Given the description of an element on the screen output the (x, y) to click on. 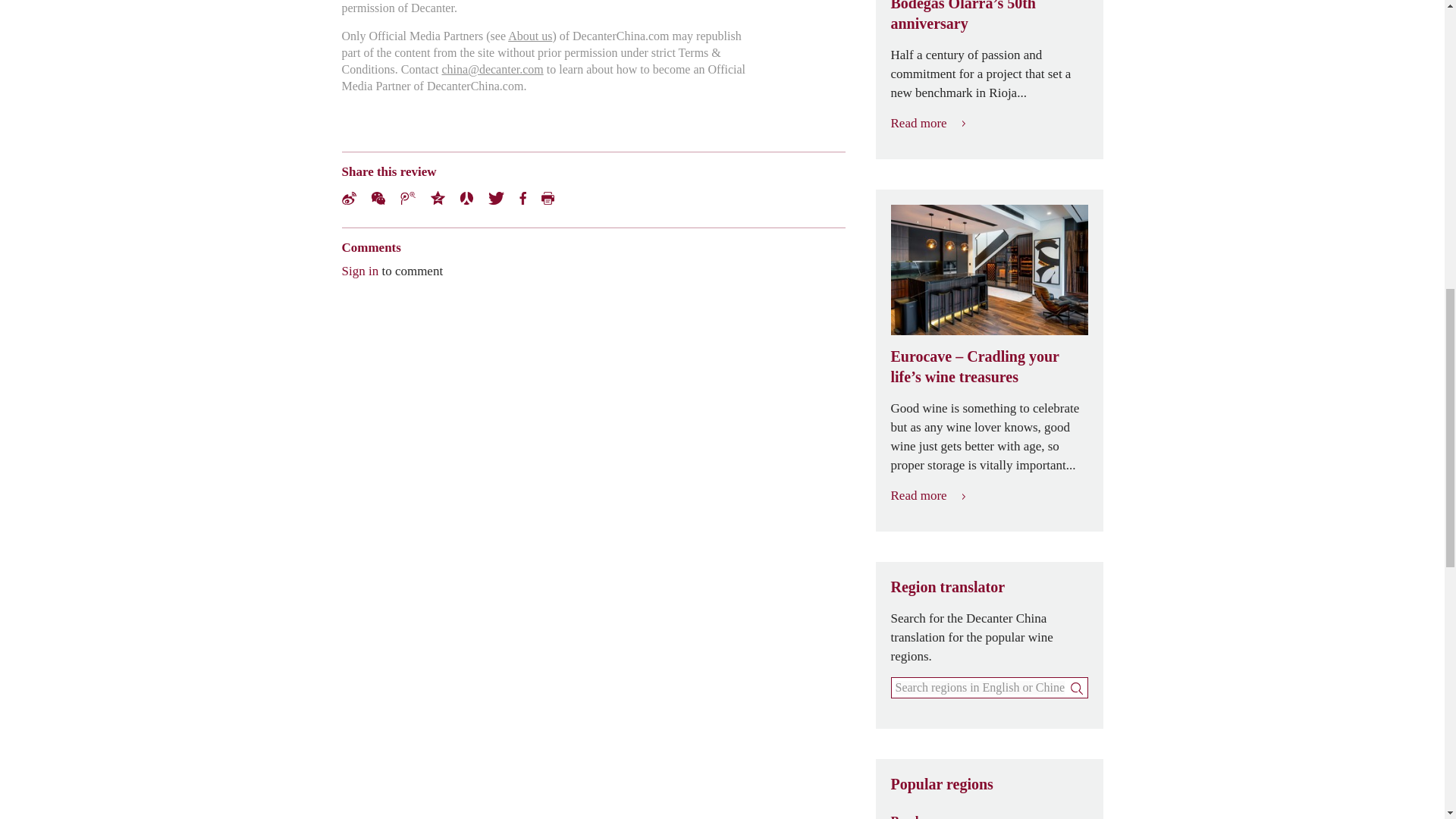
Twitter (495, 196)
Search regions in English or Chinese (979, 687)
QZone (437, 197)
Renren (465, 196)
Print (547, 196)
Search regions in English or Chinese (979, 687)
Weibo (347, 196)
WeChat (378, 196)
Tencent Weibo (407, 196)
